Given the description of an element on the screen output the (x, y) to click on. 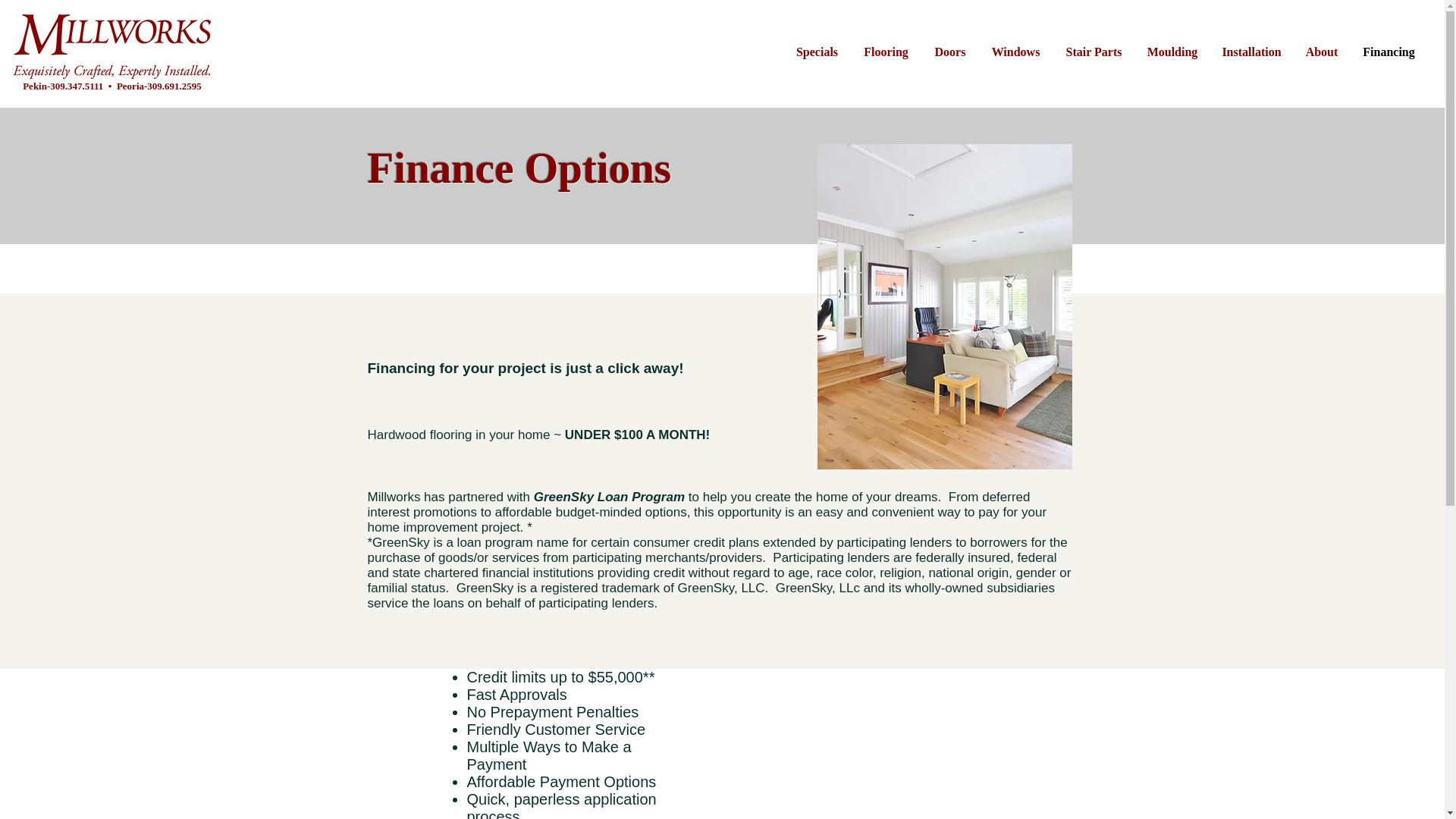
Flooring (885, 52)
Financing (1388, 52)
About (1321, 52)
Peoria-309.691.2595 (159, 85)
Windows (1015, 52)
Doors (949, 52)
Moulding (1172, 52)
Stair Parts (1093, 52)
Specials (816, 52)
